Given the description of an element on the screen output the (x, y) to click on. 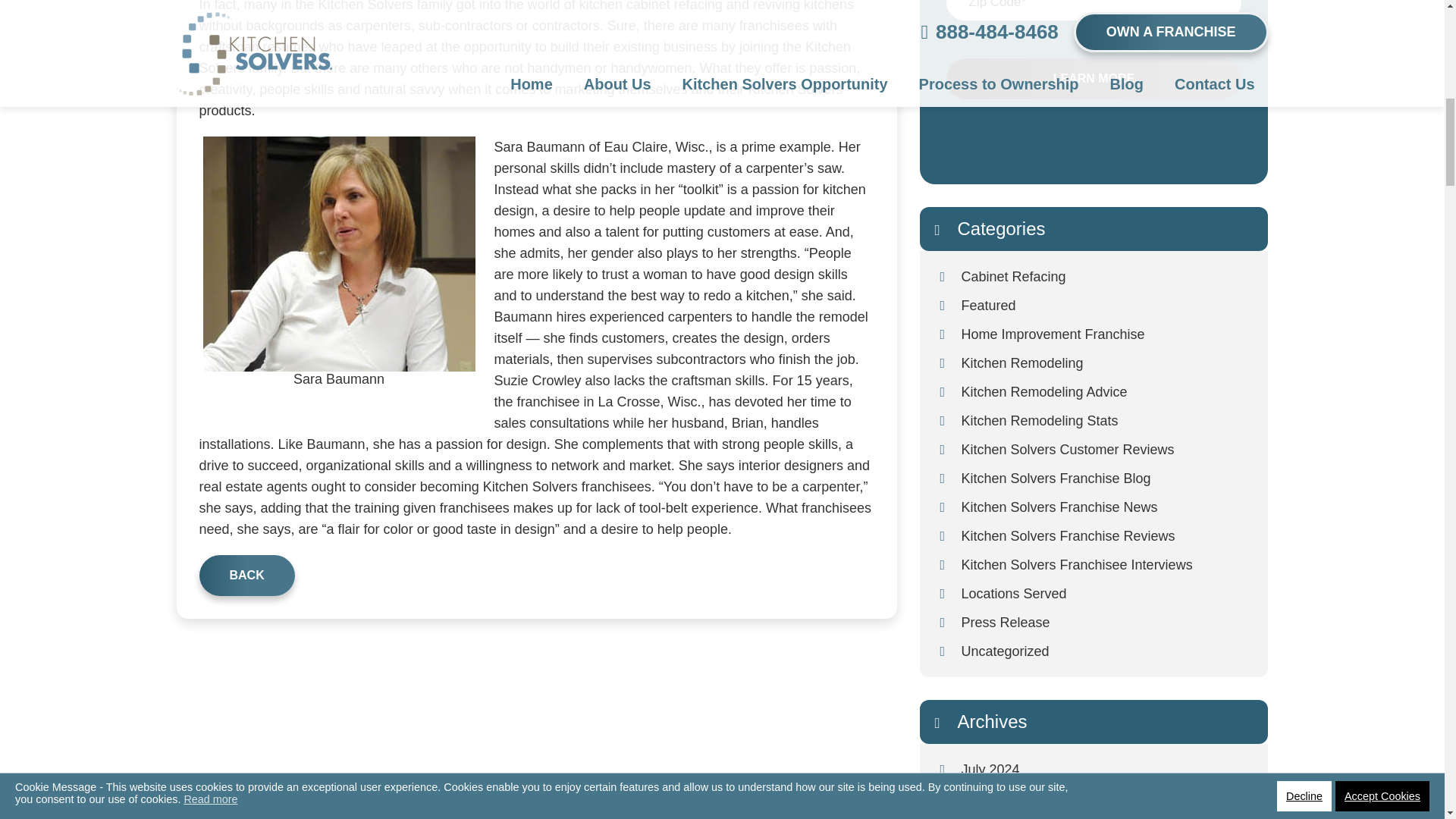
Kitchen Remodeling Advice (1106, 391)
Featured (1106, 305)
Kitchen Solvers Franchisee Interviews (1106, 564)
Kitchen Solvers Franchise Reviews (1106, 535)
Learn More (1093, 78)
BACK (246, 575)
Kitchen Solvers Franchise News (1106, 507)
Home Improvement Franchise (1106, 334)
Kitchen Solvers Franchise Blog (1106, 478)
Kitchen Remodeling (1106, 362)
Learn More (1093, 78)
Kitchen Solvers Customer Reviews (1106, 449)
Cabinet Refacing (1106, 276)
Kitchen Remodeling Stats (1106, 420)
